Given the description of an element on the screen output the (x, y) to click on. 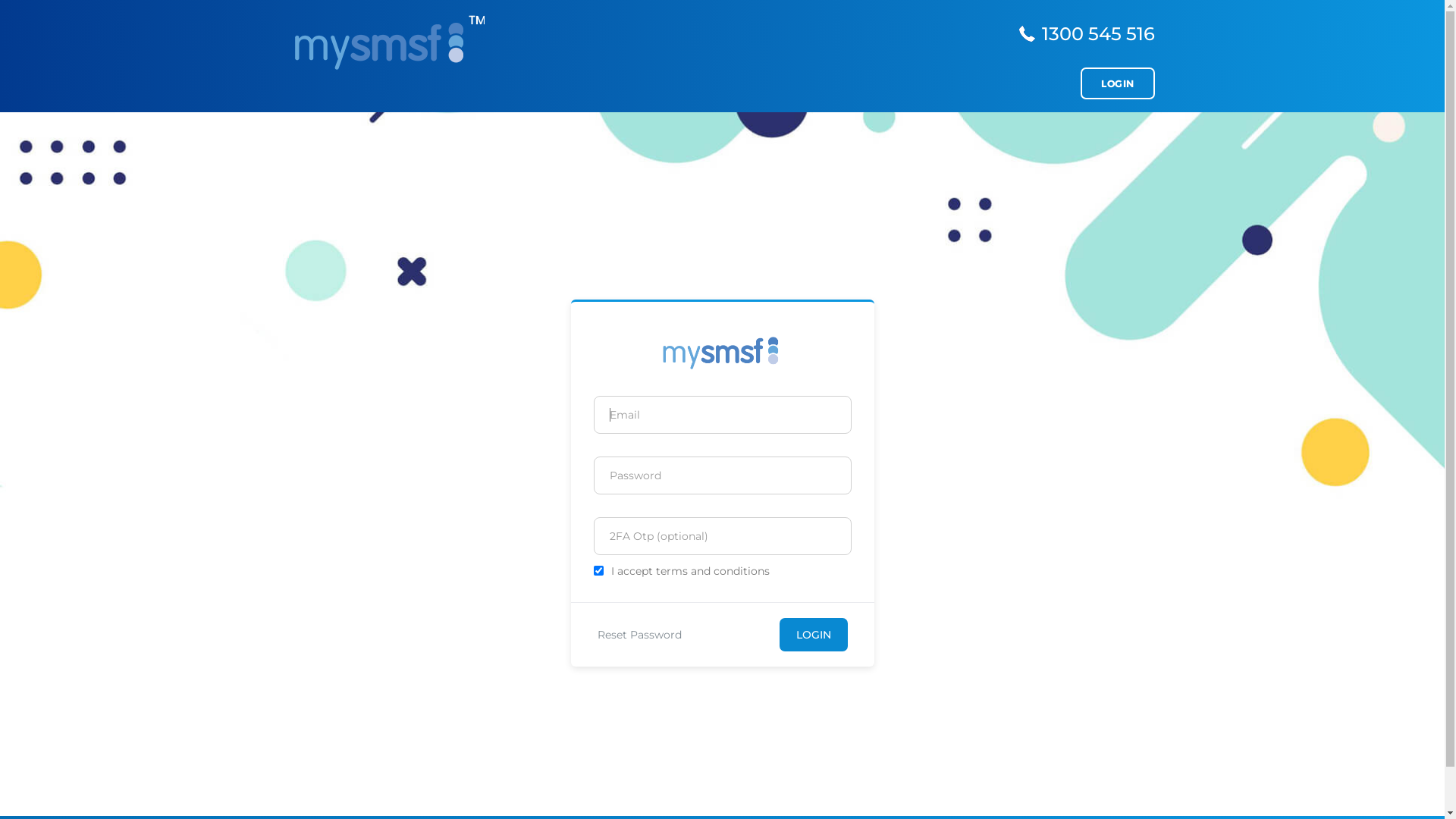
LOGIN Element type: text (1117, 83)
LOGIN Element type: text (813, 634)
I accept terms and conditions Element type: text (690, 570)
1300 545 516 Element type: text (1097, 33)
Reset Password Element type: text (639, 634)
